Given the description of an element on the screen output the (x, y) to click on. 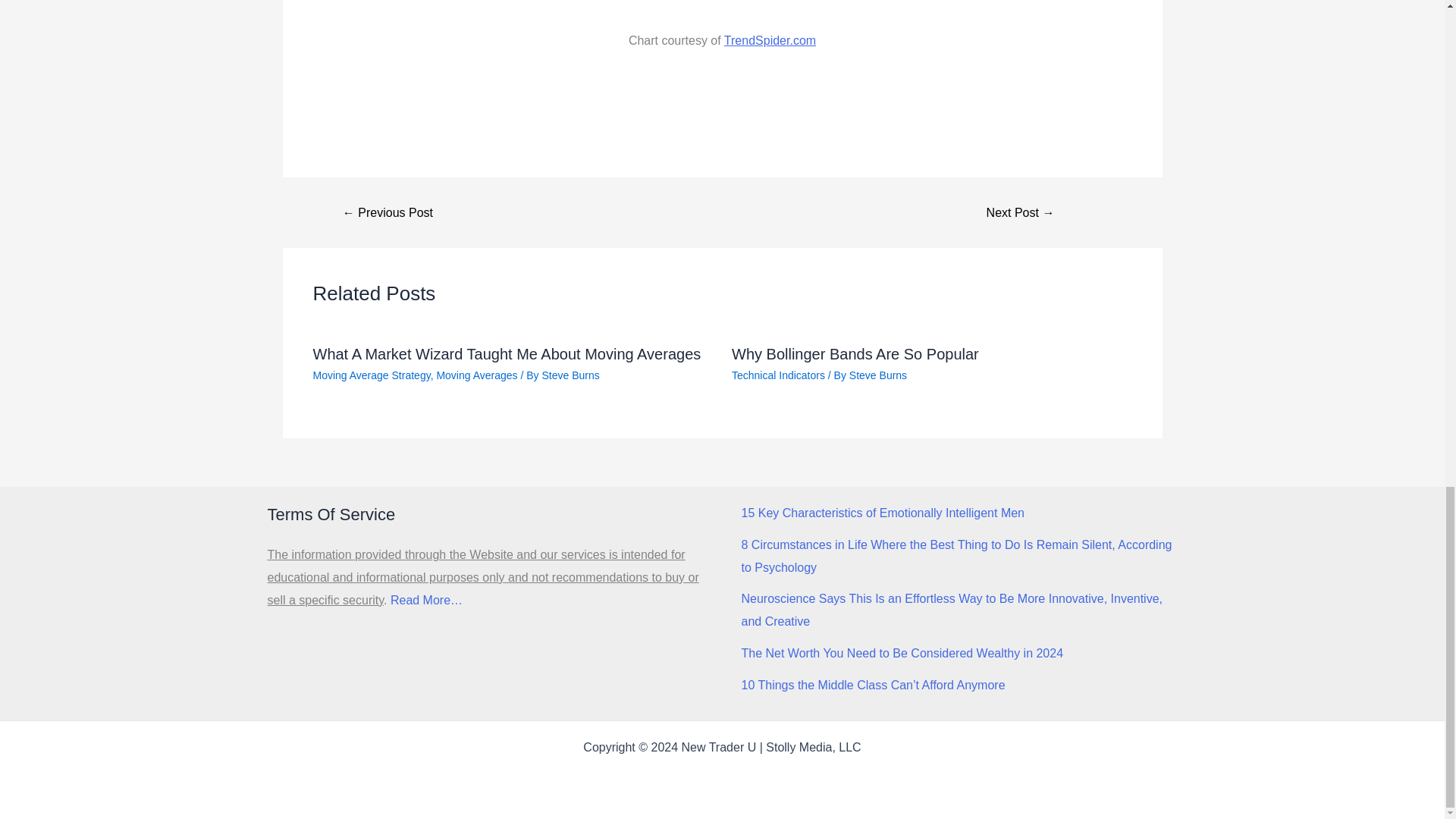
Moving Averages (475, 375)
View all posts by Steve Burns (569, 375)
How to Set a Stop Loss (1019, 213)
Golden Cross Stock Trading Strategy (387, 213)
What A Market Wizard Taught Me About Moving Averages (506, 353)
Steve Burns (569, 375)
Alligator Indicator 3 (721, 9)
TrendSpider.com (769, 40)
View all posts by Steve Burns (877, 375)
Why Bollinger Bands Are So Popular (855, 353)
